Given the description of an element on the screen output the (x, y) to click on. 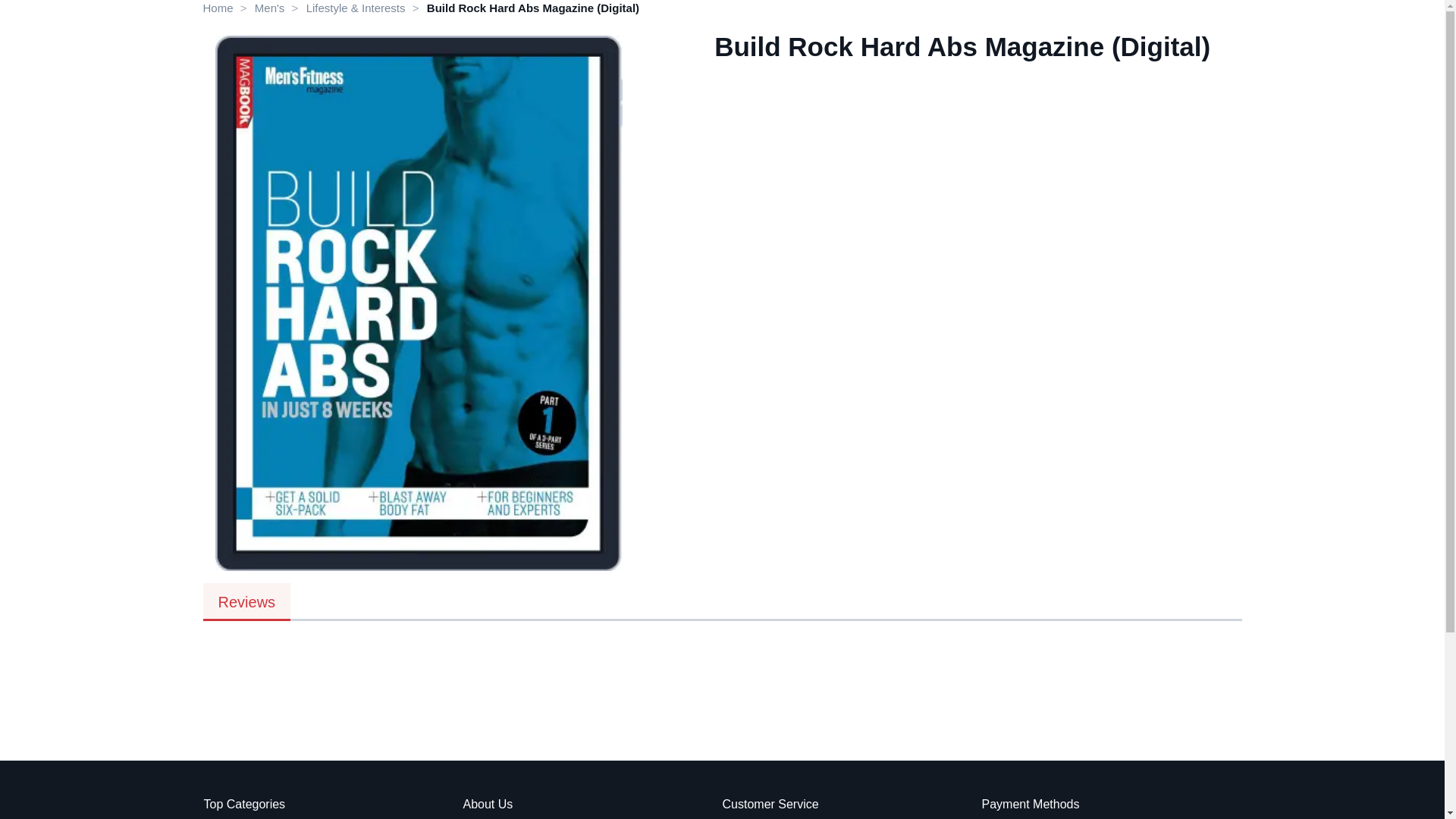
Reviews (247, 601)
Home (217, 7)
Men's (269, 7)
